Given the description of an element on the screen output the (x, y) to click on. 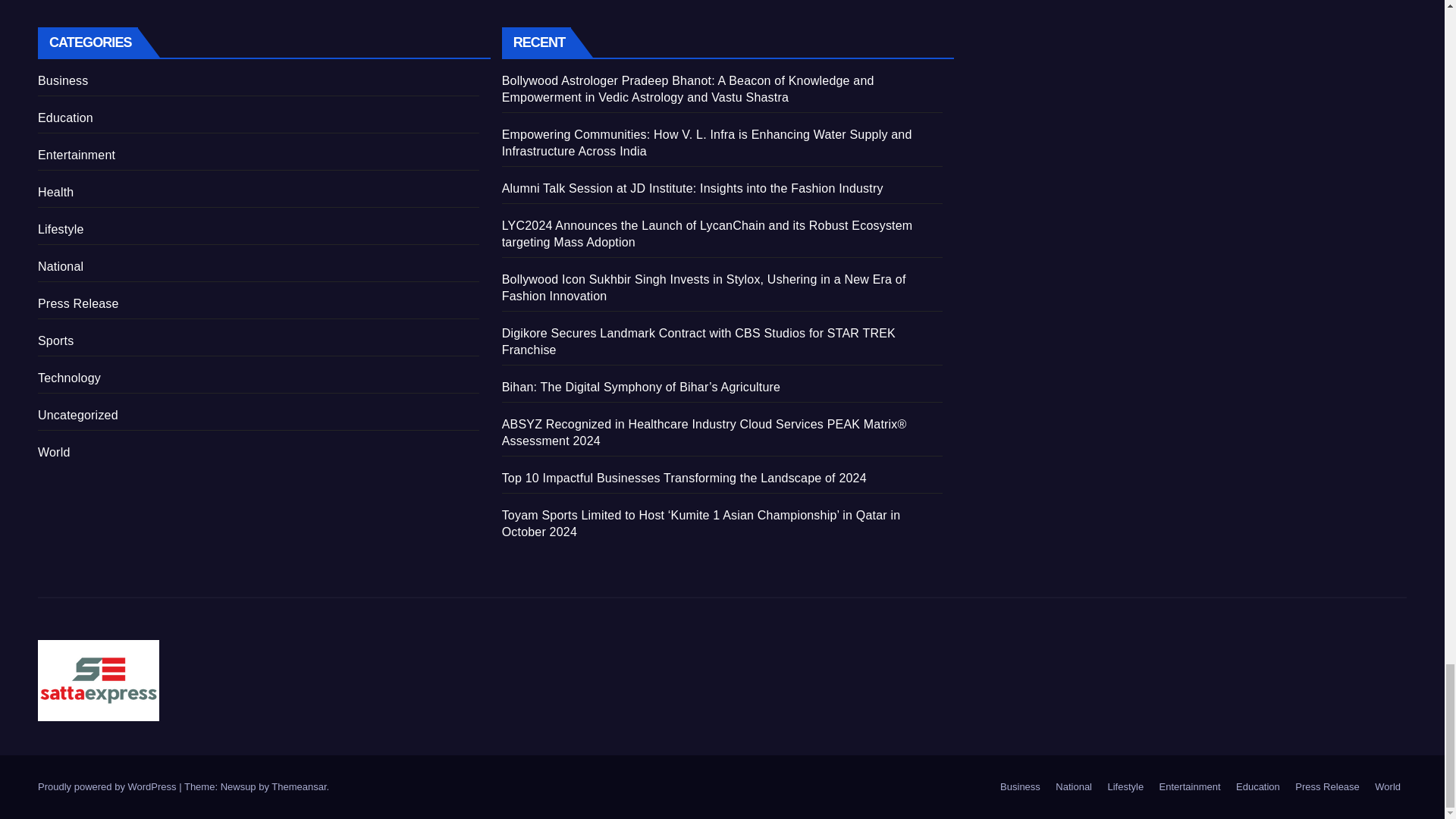
National (1073, 786)
Lifestyle (1125, 786)
Business (1020, 786)
